Given the description of an element on the screen output the (x, y) to click on. 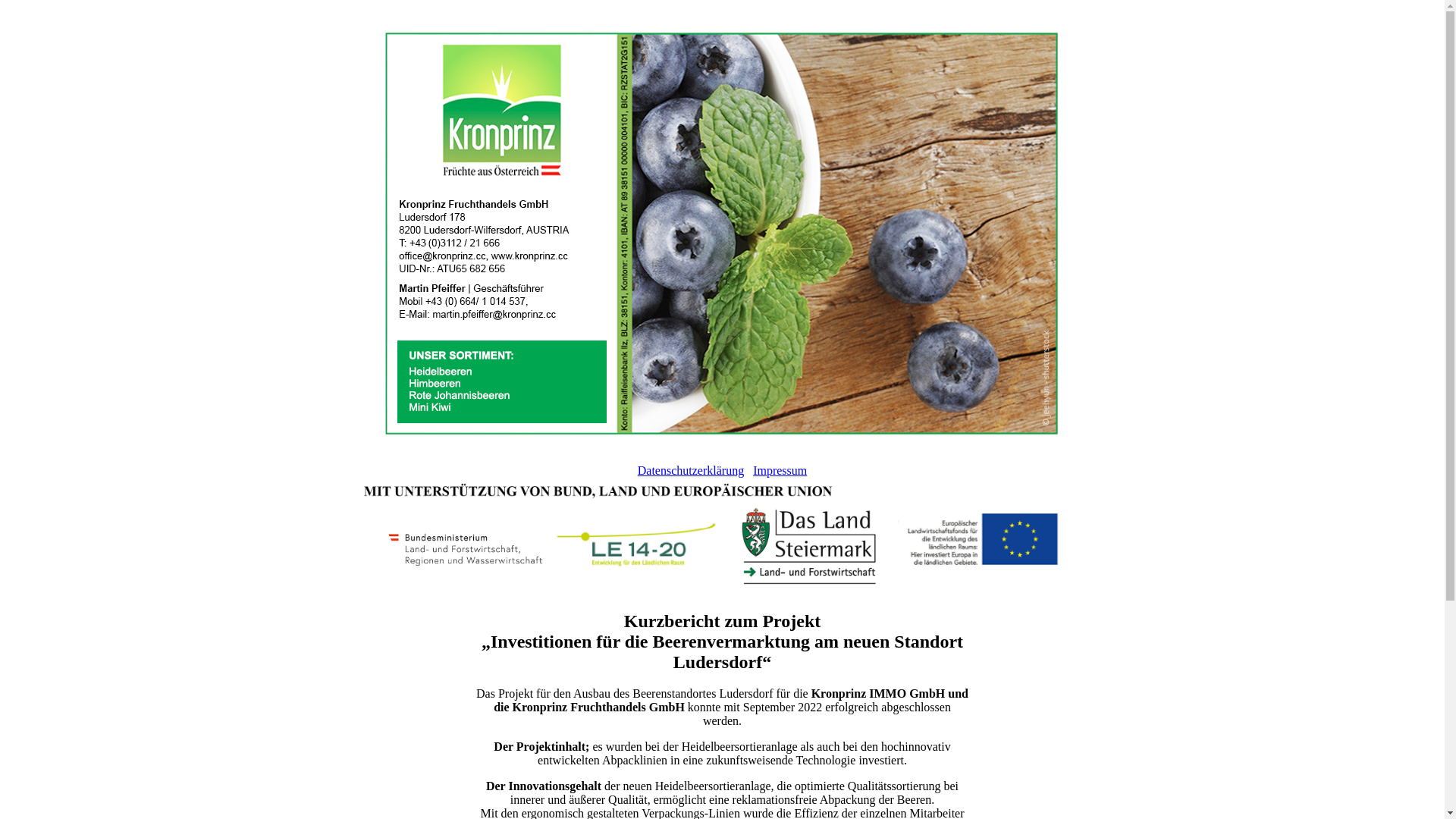
Impressum Element type: text (779, 470)
